Given the description of an element on the screen output the (x, y) to click on. 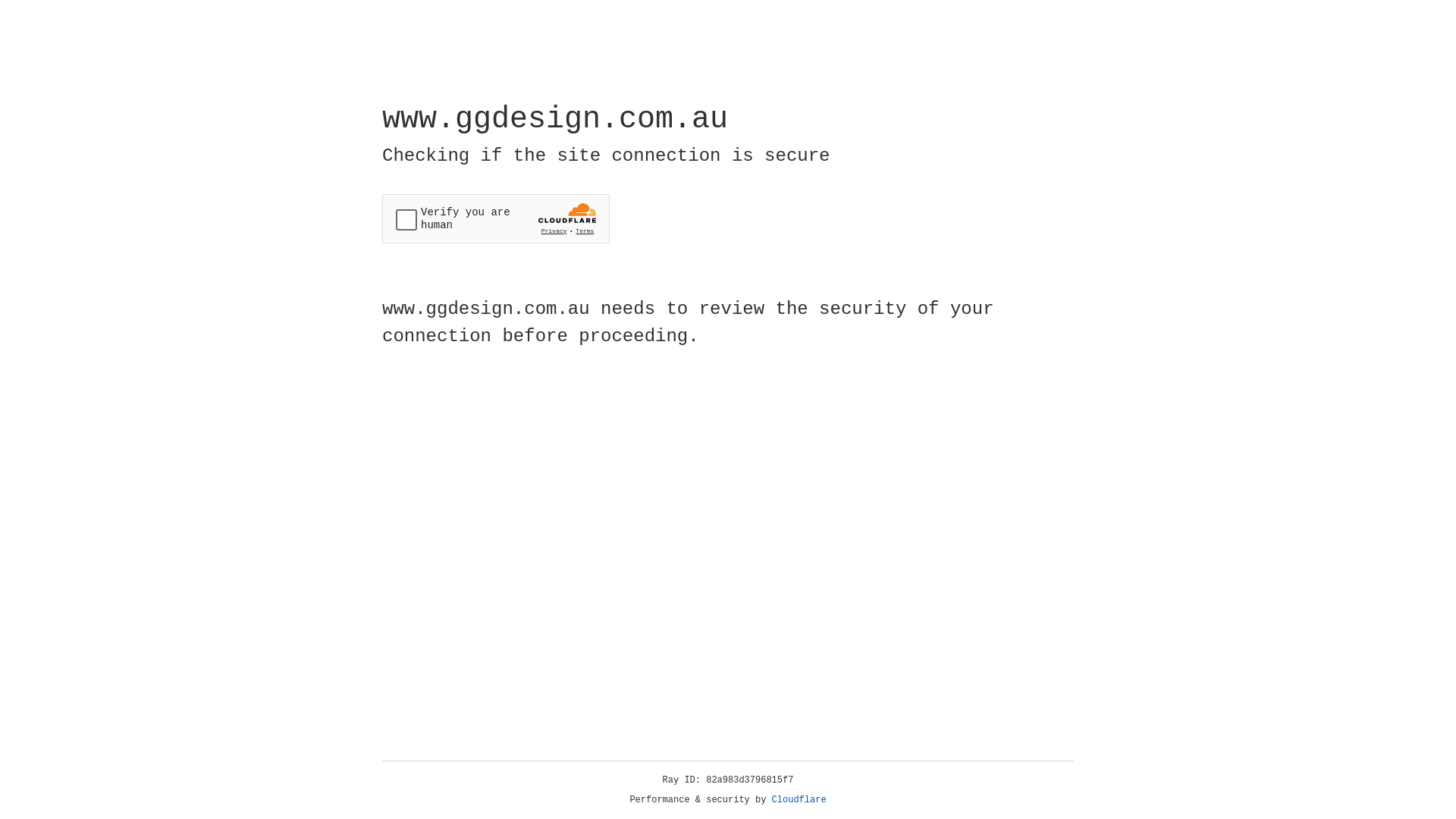
Cloudflare Element type: text (798, 799)
Widget containing a Cloudflare security challenge Element type: hover (495, 218)
